Given the description of an element on the screen output the (x, y) to click on. 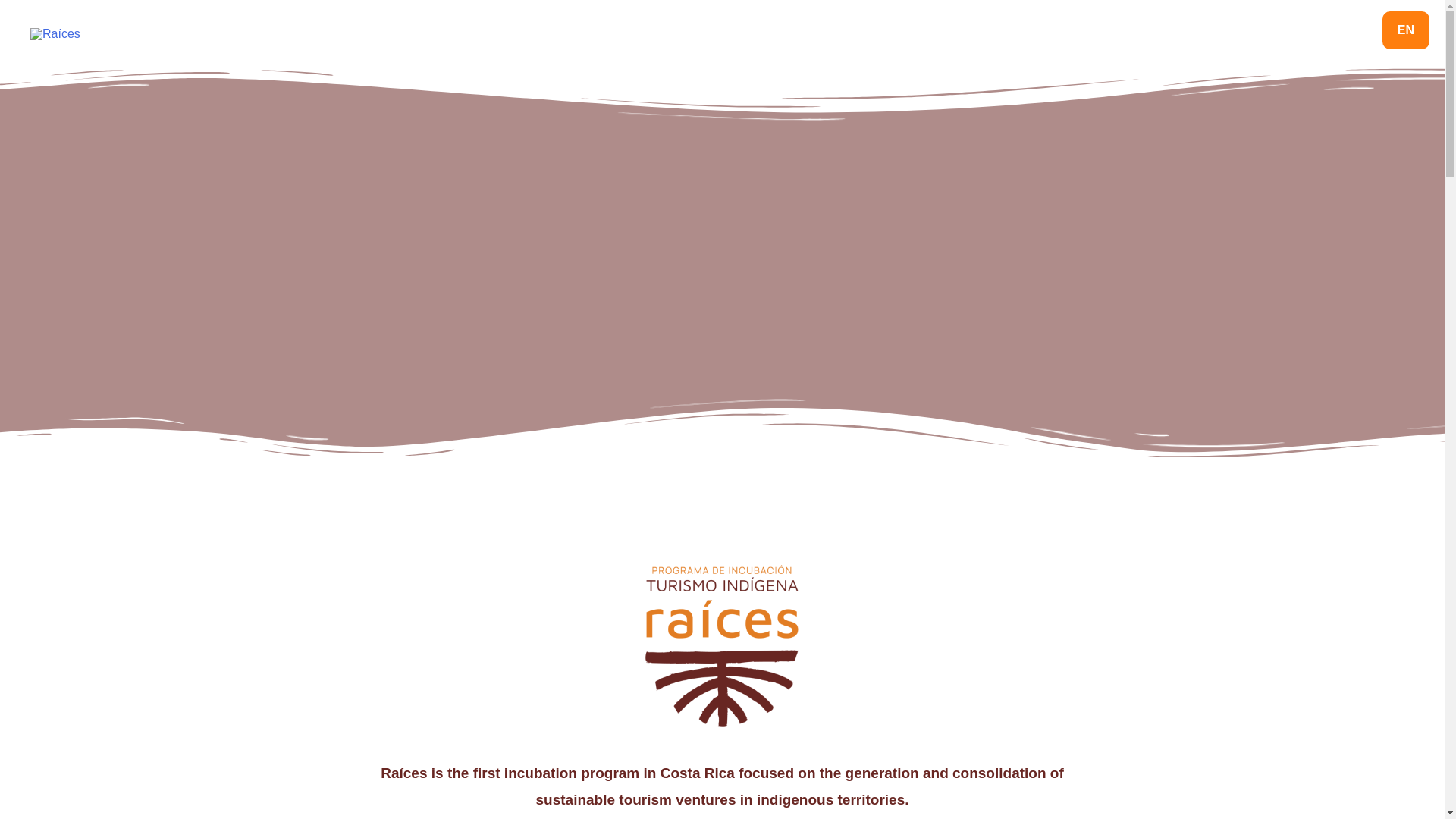
EN (1405, 30)
